Given the description of an element on the screen output the (x, y) to click on. 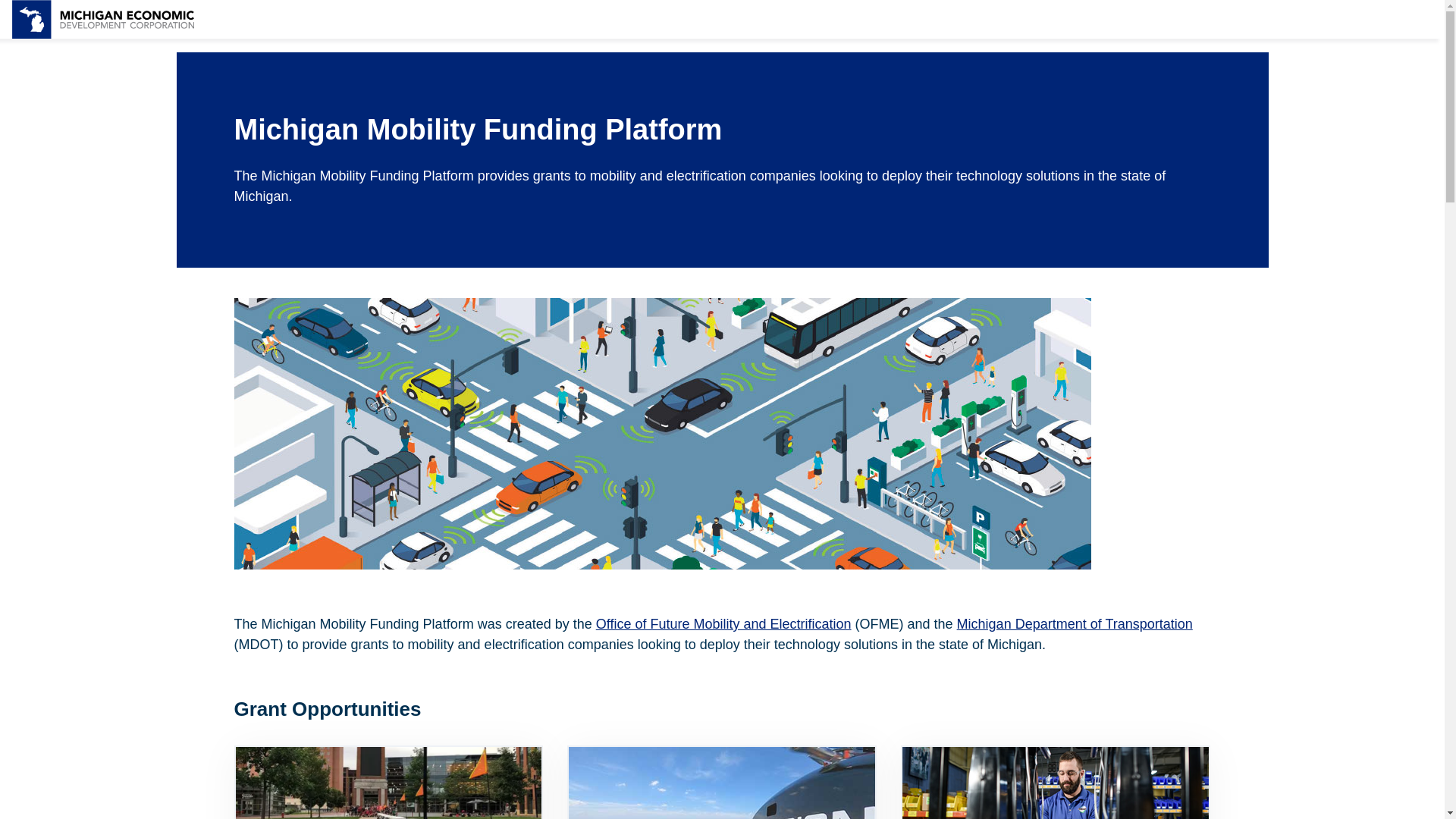
Michigan Department of Transportation (1074, 623)
Office of Future Mobility and Electrification (723, 623)
Real World.png (387, 782)
Michigan Economic Development Corporation (102, 19)
